Given the description of an element on the screen output the (x, y) to click on. 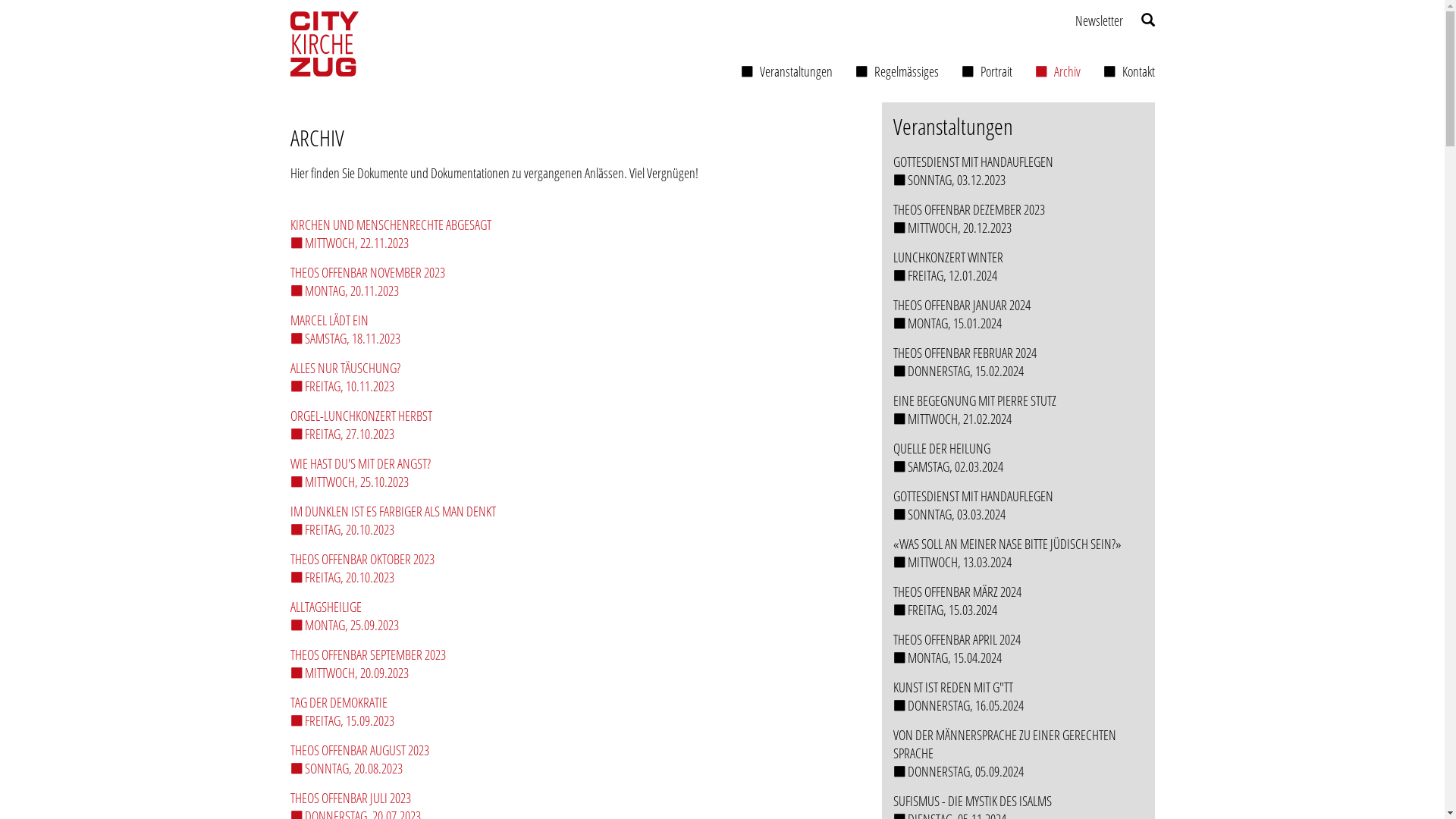
KIRCHEN UND MENSCHENRECHTE ABGESAGT
MITTWOCH, 22.11.2023 Element type: text (568, 233)
Kontakt Element type: text (1129, 71)
ALLTAGSHEILIGE
MONTAG, 25.09.2023 Element type: text (568, 615)
THEOS OFFENBAR OKTOBER 2023
FREITAG, 20.10.2023 Element type: text (568, 567)
IM DUNKLEN IST ES FARBIGER ALS MAN DENKT
FREITAG, 20.10.2023 Element type: text (568, 520)
Archiv Element type: text (1057, 74)
GOTTESDIENST MIT HANDAUFLEGEN
SONNTAG, 03.03.2024 Element type: text (1018, 504)
Portrait Element type: text (985, 71)
THEOS OFFENBAR NOVEMBER 2023
MONTAG, 20.11.2023 Element type: text (568, 281)
QUELLE DER HEILUNG
SAMSTAG, 02.03.2024 Element type: text (1018, 457)
THEOS OFFENBAR APRIL 2024
MONTAG, 15.04.2024 Element type: text (1018, 648)
Veranstaltungen Element type: text (786, 71)
THEOS OFFENBAR FEBRUAR 2024
DONNERSTAG, 15.02.2024 Element type: text (1018, 361)
WIE HAST DU'S MIT DER ANGST?
MITTWOCH, 25.10.2023 Element type: text (568, 472)
THEOS OFFENBAR JANUAR 2024
MONTAG, 15.01.2024 Element type: text (1018, 313)
KUNST IST REDEN MIT G"TT
DONNERSTAG, 16.05.2024 Element type: text (1018, 695)
THEOS OFFENBAR AUGUST 2023
SONNTAG, 20.08.2023 Element type: text (568, 758)
TAG DER DEMOKRATIE
FREITAG, 15.09.2023 Element type: text (568, 711)
ORGEL-LUNCHKONZERT HERBST
FREITAG, 27.10.2023 Element type: text (568, 424)
THEOS OFFENBAR SEPTEMBER 2023
MITTWOCH, 20.09.2023 Element type: text (568, 663)
GOTTESDIENST MIT HANDAUFLEGEN
SONNTAG, 03.12.2023 Element type: text (1018, 170)
Newsletter Element type: text (1099, 20)
LUNCHKONZERT WINTER
FREITAG, 12.01.2024 Element type: text (1018, 265)
EINE BEGEGNUNG MIT PIERRE STUTZ
MITTWOCH, 21.02.2024 Element type: text (1018, 409)
THEOS OFFENBAR DEZEMBER 2023
MITTWOCH, 20.12.2023 Element type: text (1018, 218)
